Given the description of an element on the screen output the (x, y) to click on. 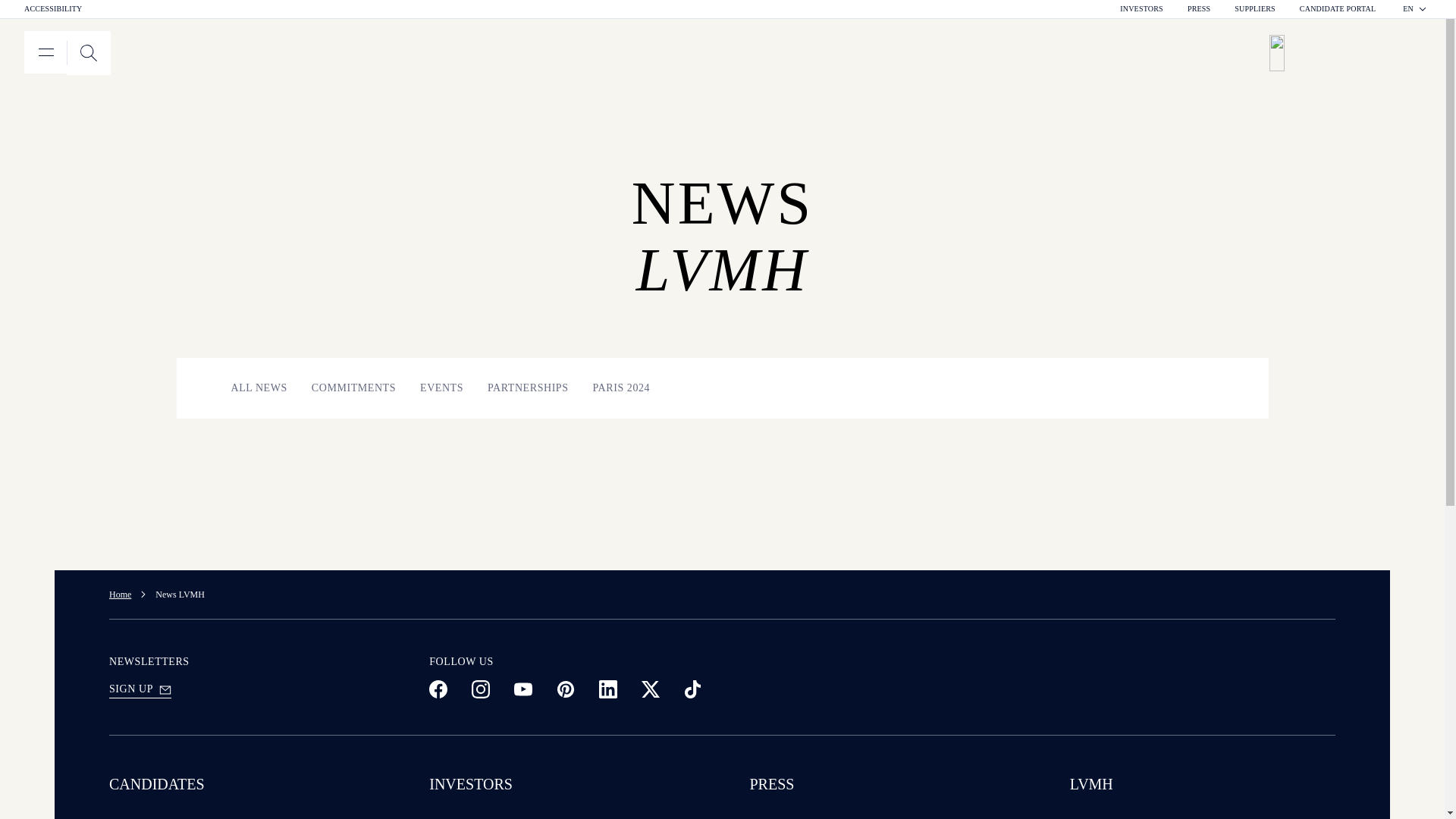
SEARCH (88, 53)
CANDIDATE PORTAL (1337, 9)
LVMH Homepage (1350, 53)
SUPPLIERS (1415, 9)
SEARCH (1254, 9)
SEARCH (88, 53)
PRESS (88, 53)
ACCESSIBILITY (1198, 9)
INVESTORS (53, 9)
SEARCH (1141, 9)
